Given the description of an element on the screen output the (x, y) to click on. 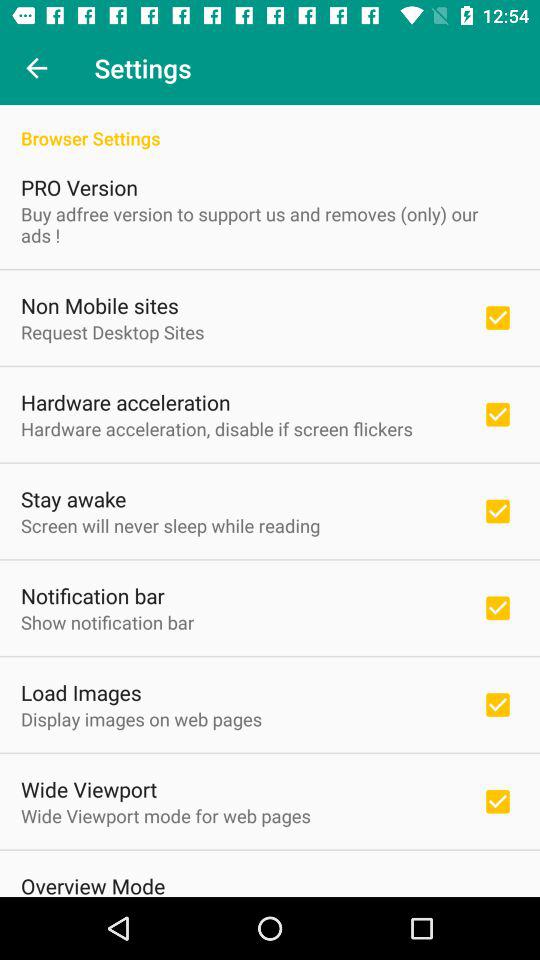
select icon next to settings (36, 68)
